Given the description of an element on the screen output the (x, y) to click on. 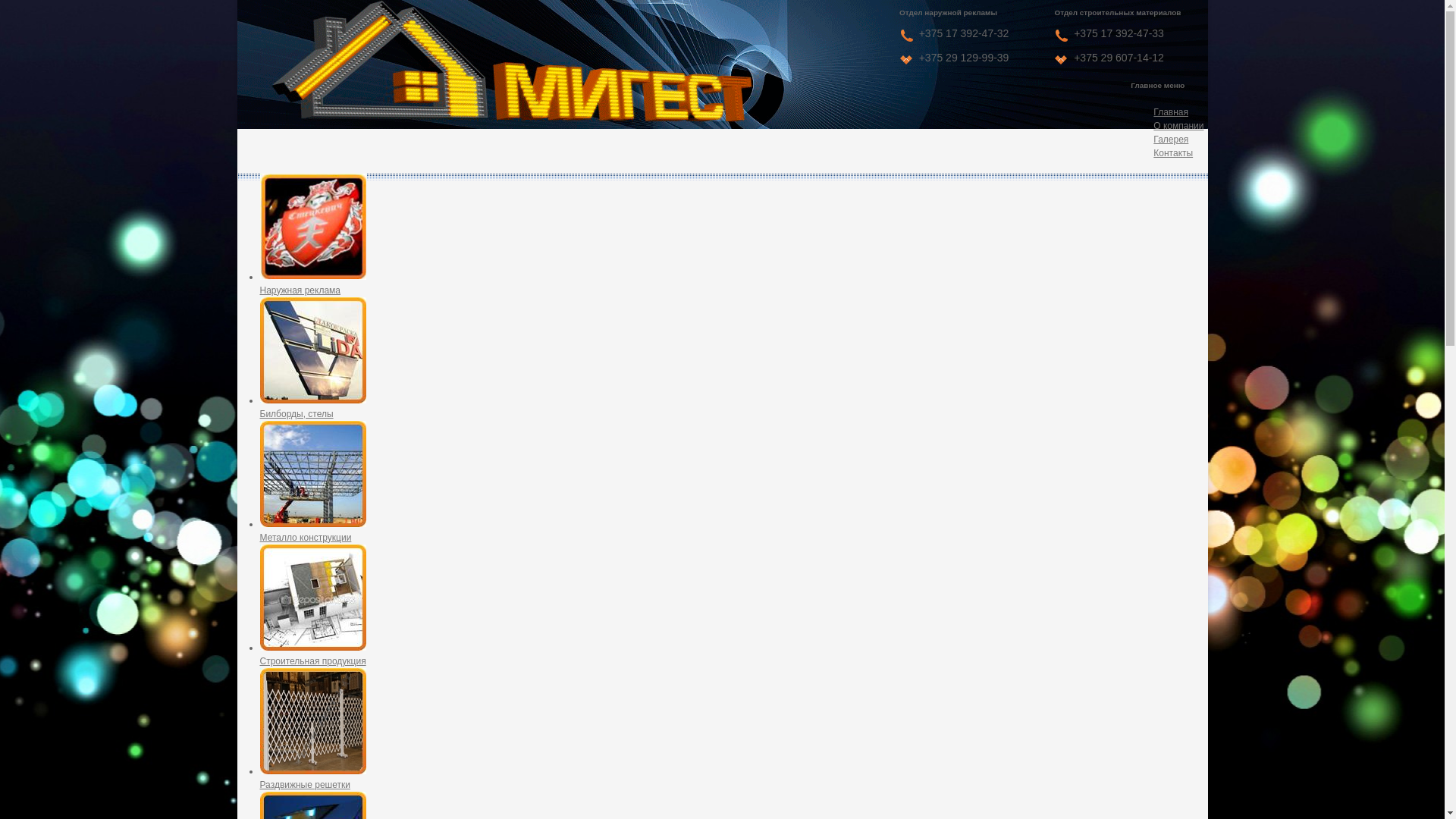
Jump to navigation Element type: text (722, 2)
